Given the description of an element on the screen output the (x, y) to click on. 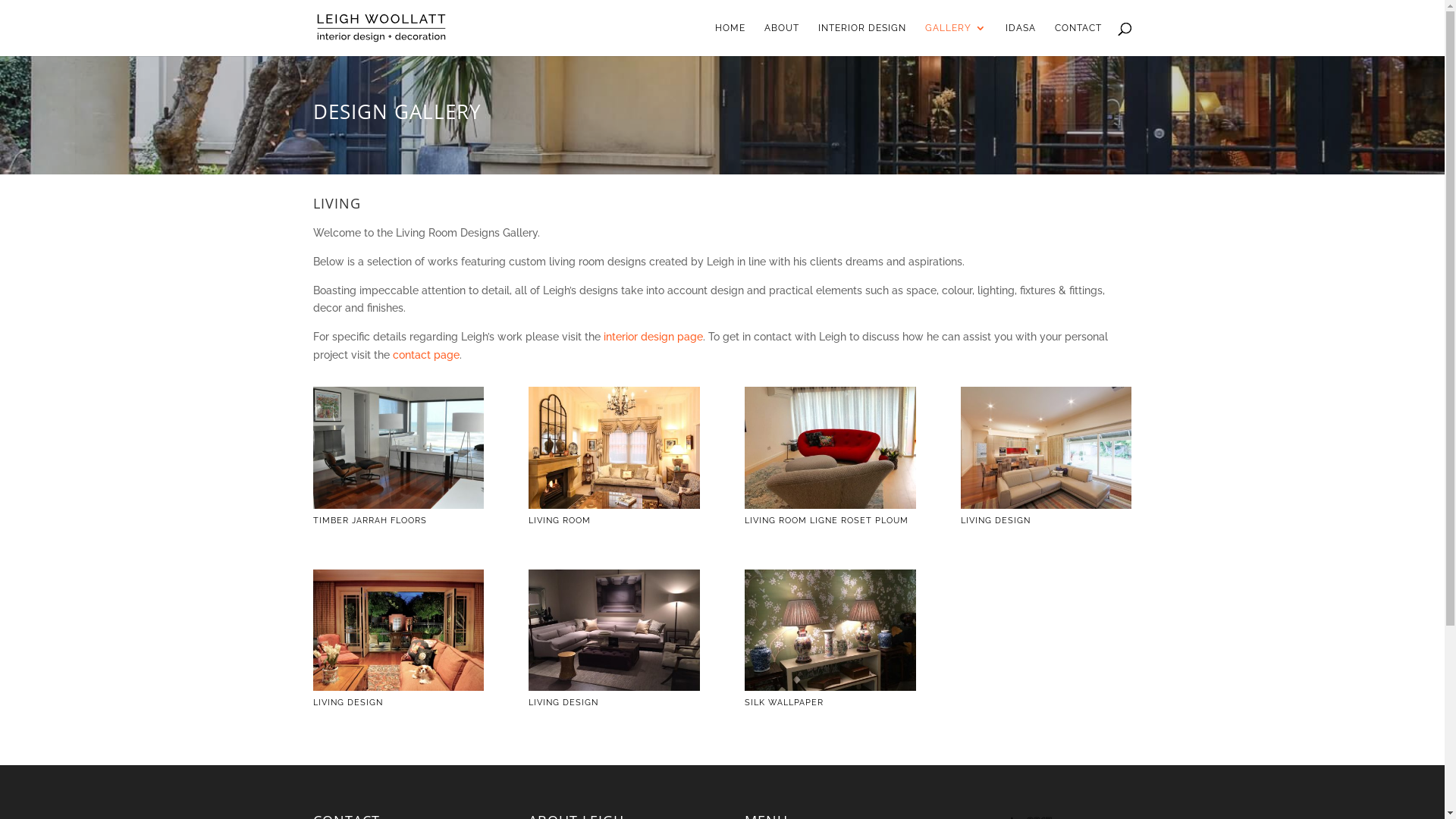
contact page Element type: text (425, 354)
Living Room Element type: hover (613, 504)
Living Room Ligne Roset Ploum Element type: hover (829, 504)
Living Design Element type: hover (397, 686)
IDASA Element type: text (1020, 39)
Living Design Element type: hover (1045, 504)
HOME Element type: text (729, 39)
interior design page Element type: text (652, 336)
INTERIOR DESIGN Element type: text (861, 39)
Living Design Element type: hover (613, 686)
CONTACT Element type: text (1077, 39)
Silk Wallpaper Element type: hover (829, 686)
GALLERY Element type: text (955, 39)
Timber Jarrah floors Element type: hover (397, 504)
ABOUT Element type: text (781, 39)
